Given the description of an element on the screen output the (x, y) to click on. 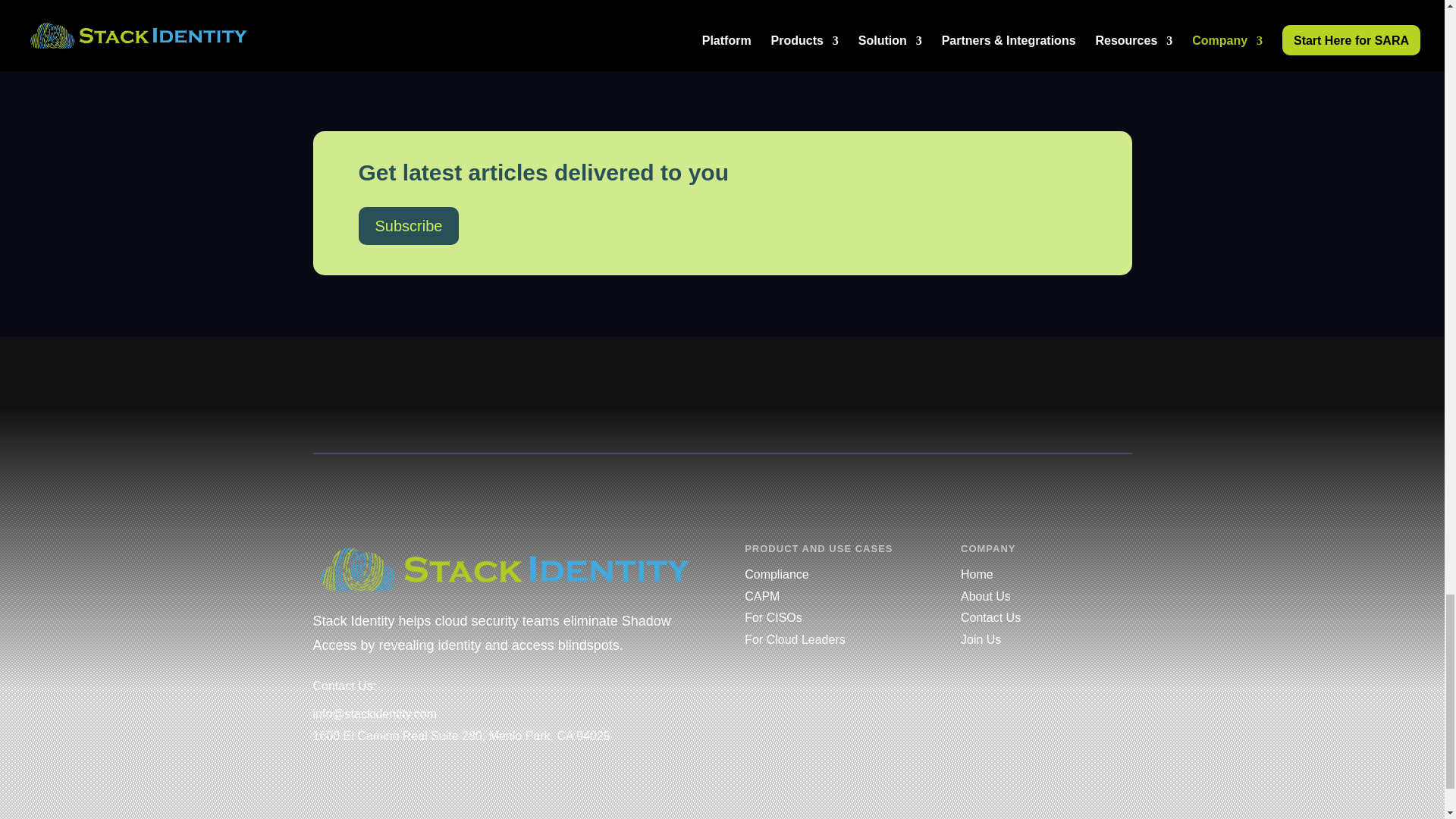
Join Us (980, 639)
CAPM (761, 595)
For Cloud Leaders (794, 639)
Contact Us (990, 617)
Subscribe (408, 225)
About Us (985, 595)
For CISOs (773, 617)
Compliance (776, 574)
Home (976, 574)
Stack Identity (505, 569)
